Given the description of an element on the screen output the (x, y) to click on. 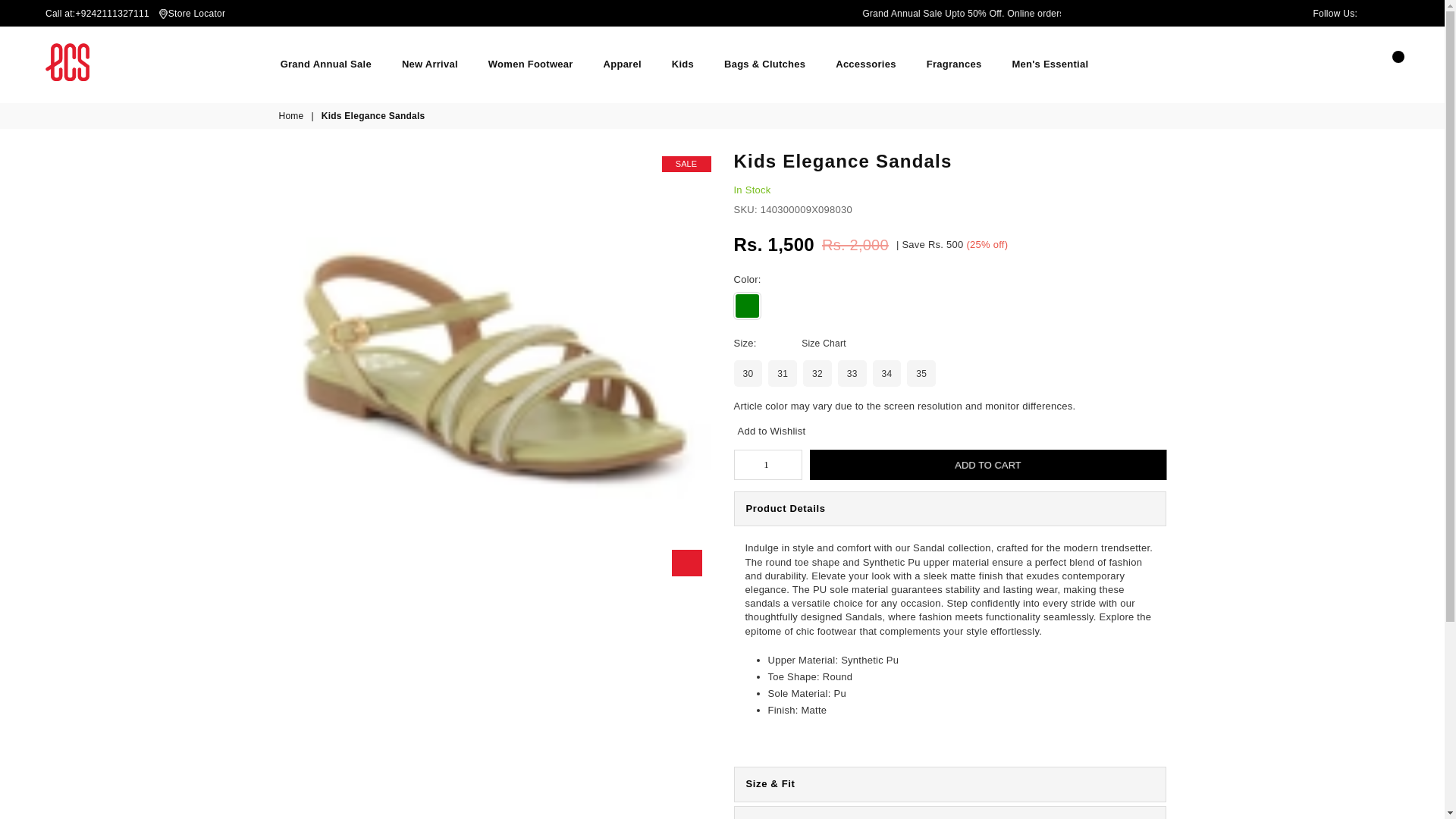
Back to the home page (292, 115)
Women Footwear (531, 64)
Quantity (767, 464)
New Arrival (429, 64)
ECS (66, 62)
Store Locator (196, 13)
Grand Annual Sale (325, 64)
